Given the description of an element on the screen output the (x, y) to click on. 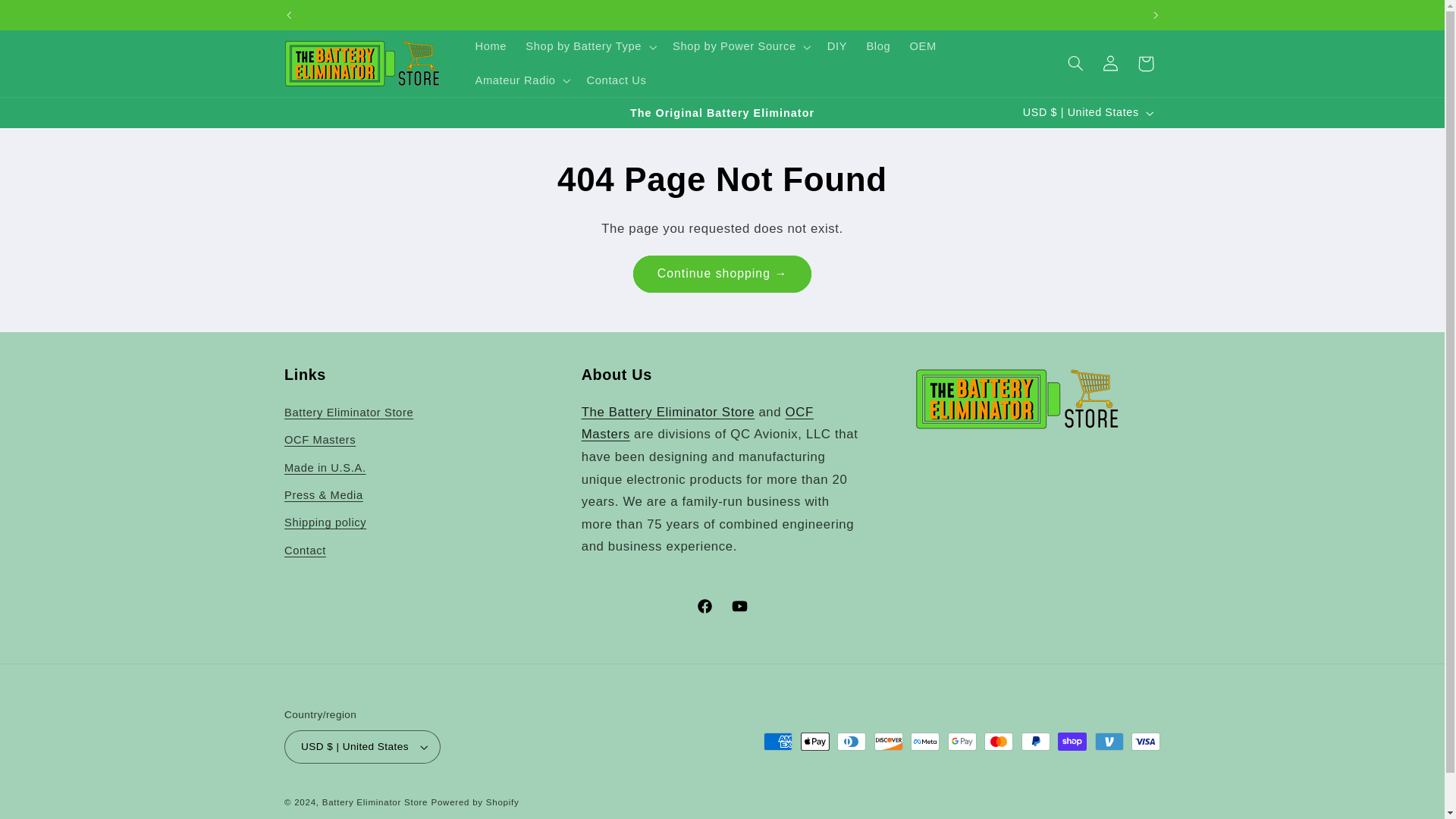
Skip to content (48, 18)
